Given the description of an element on the screen output the (x, y) to click on. 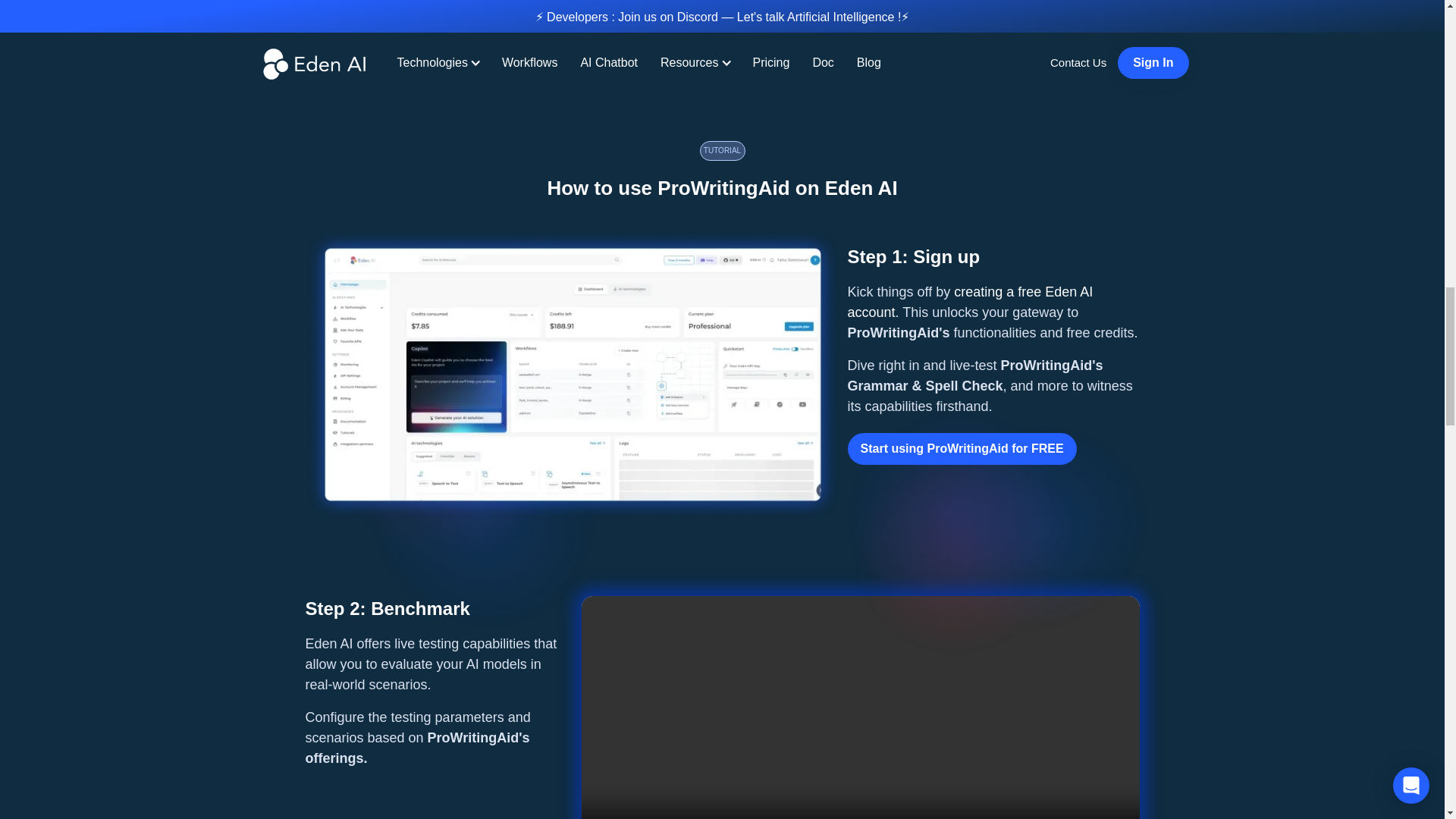
Start using ProWritingAid for FREE (828, 33)
creating a free Eden AI account (962, 449)
